Given the description of an element on the screen output the (x, y) to click on. 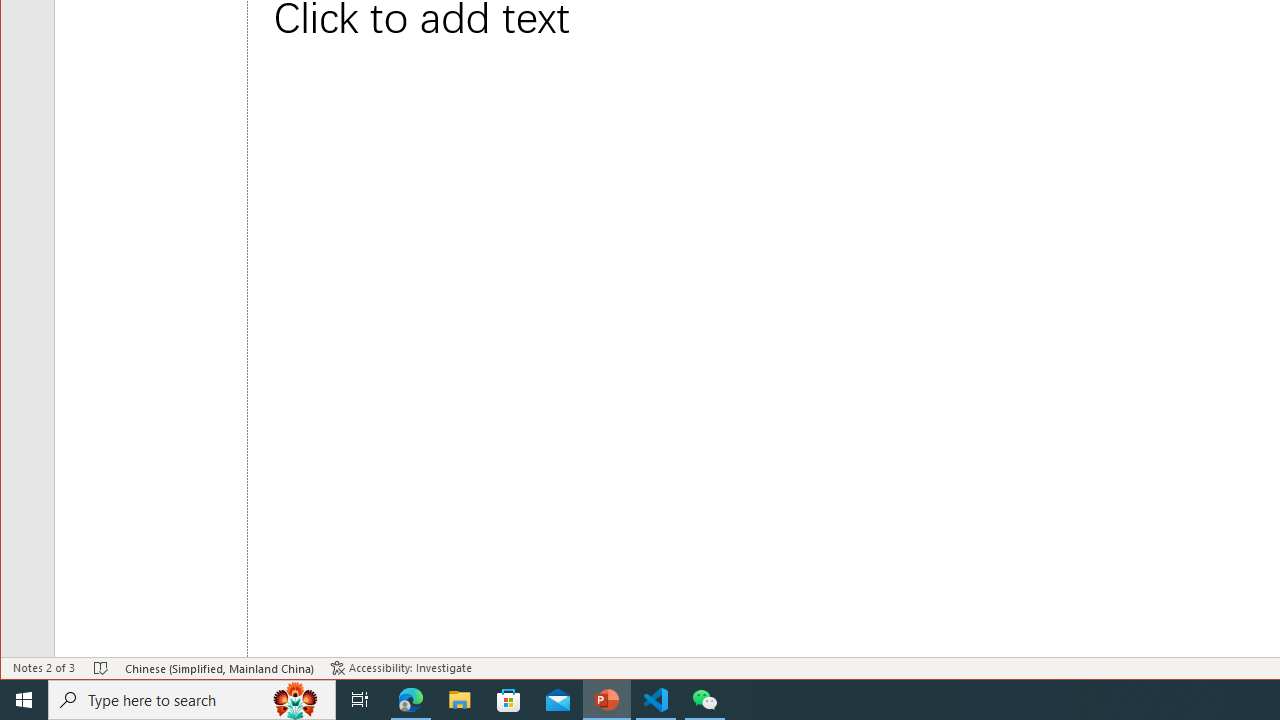
WeChat - 1 running window (704, 699)
